Given the description of an element on the screen output the (x, y) to click on. 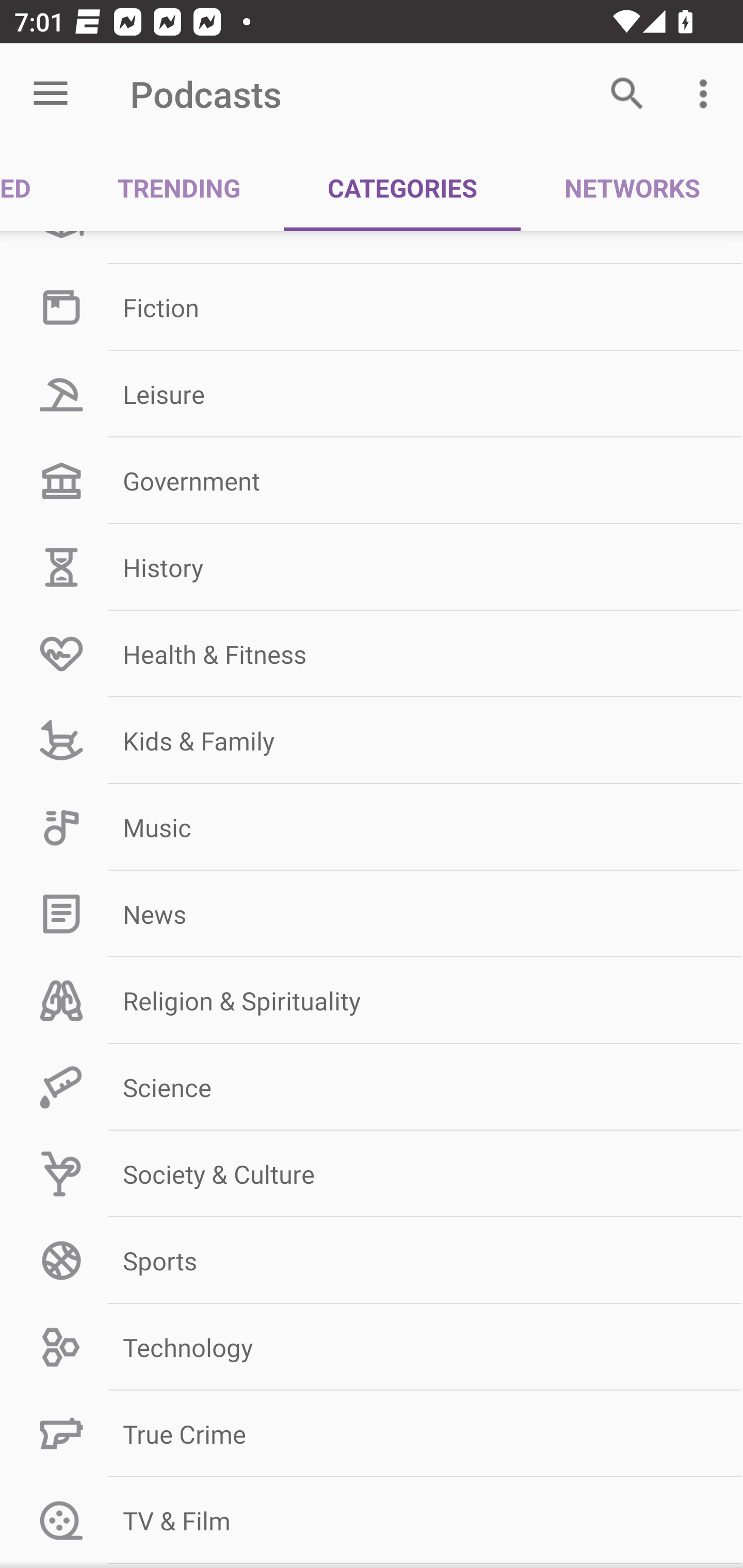
Open menu (50, 93)
Search (626, 93)
More options (706, 93)
TRENDING (178, 187)
CATEGORIES (401, 187)
NETWORKS (631, 187)
Fiction (371, 307)
Leisure (371, 394)
Government (371, 480)
History (371, 566)
Health & Fitness (371, 653)
Kids & Family (371, 740)
Music (371, 827)
News (371, 914)
Religion & Spirituality (371, 1001)
Science (371, 1087)
Society & Culture (371, 1173)
Sports (371, 1260)
Technology (371, 1347)
True Crime (371, 1433)
TV & Film (371, 1520)
